Given the description of an element on the screen output the (x, y) to click on. 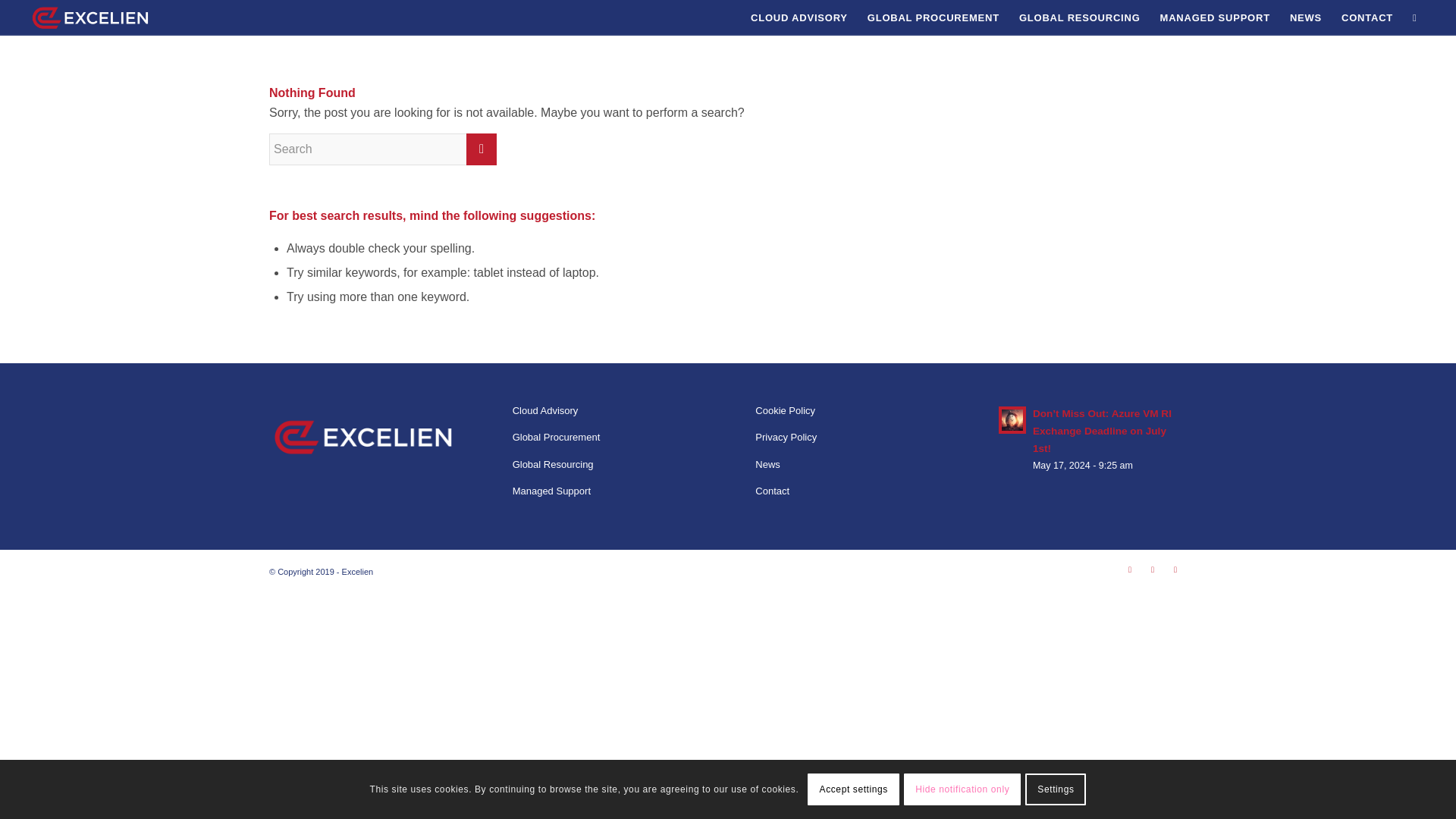
News (849, 465)
GLOBAL RESOURCING (1079, 17)
MANAGED SUPPORT (1214, 17)
NEWS (1305, 17)
Skype (1129, 568)
GLOBAL PROCUREMENT (933, 17)
CLOUD ADVISORY (799, 17)
LinkedIn (1152, 568)
Cookie Policy (849, 411)
Mail (1174, 568)
Contact (849, 491)
Managed Support (606, 491)
CONTACT (1367, 17)
Global Procurement (606, 438)
Global Resourcing (606, 465)
